Given the description of an element on the screen output the (x, y) to click on. 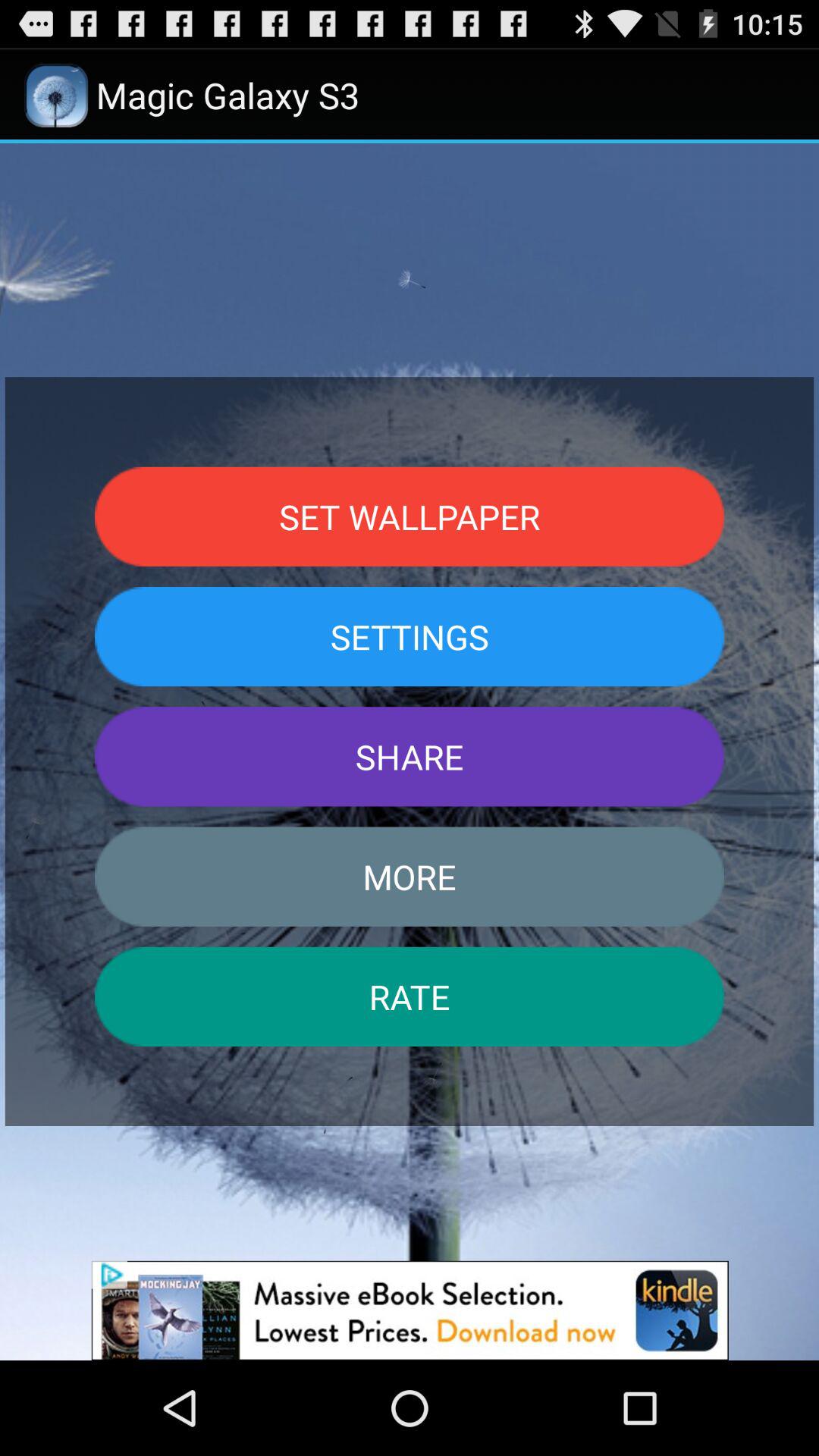
turn on icon below the settings item (409, 756)
